Given the description of an element on the screen output the (x, y) to click on. 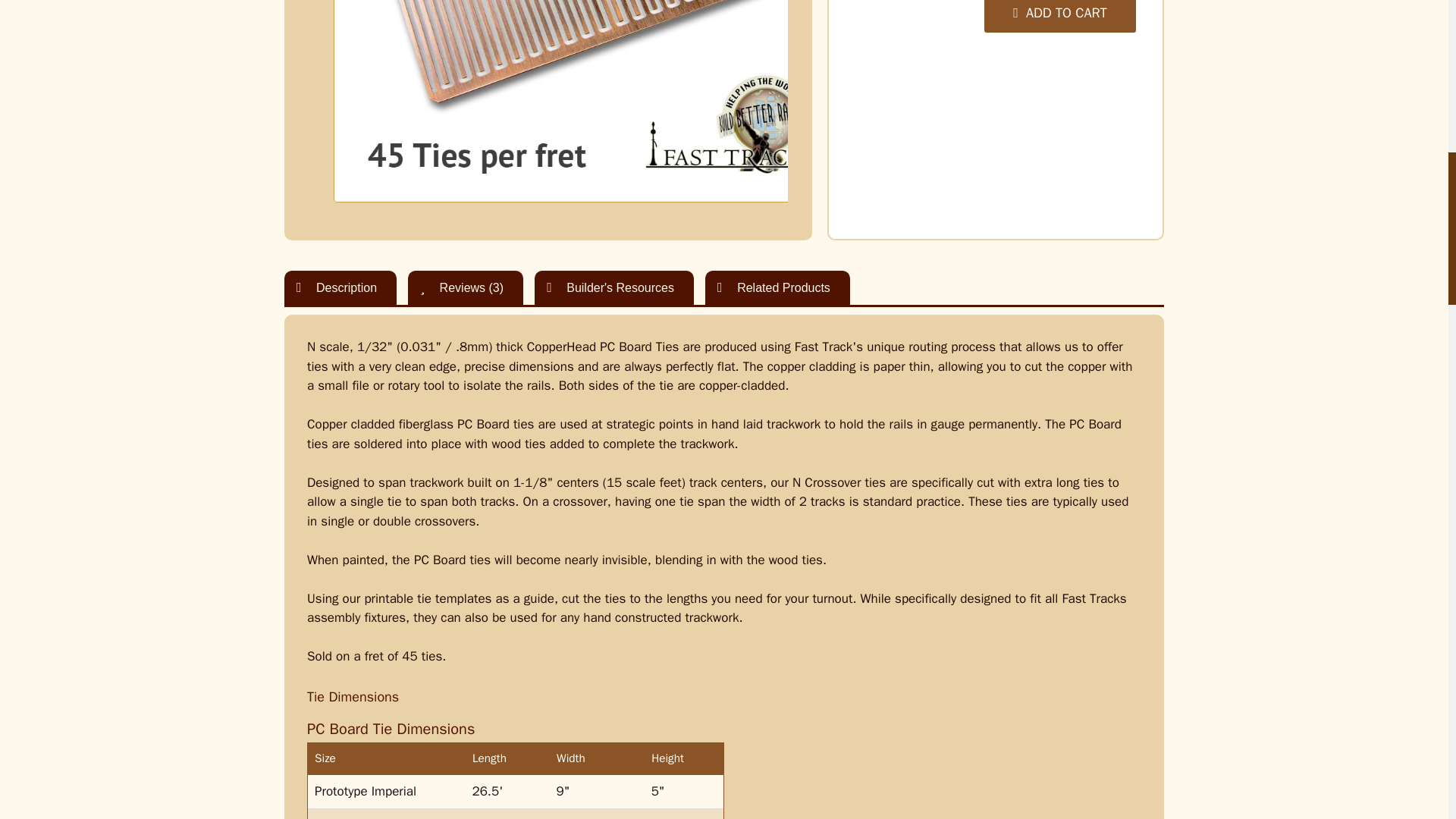
image (590, 101)
Description (339, 287)
ADD TO CART (1059, 16)
Builder's Resources (614, 287)
Related Products (777, 287)
